Given the description of an element on the screen output the (x, y) to click on. 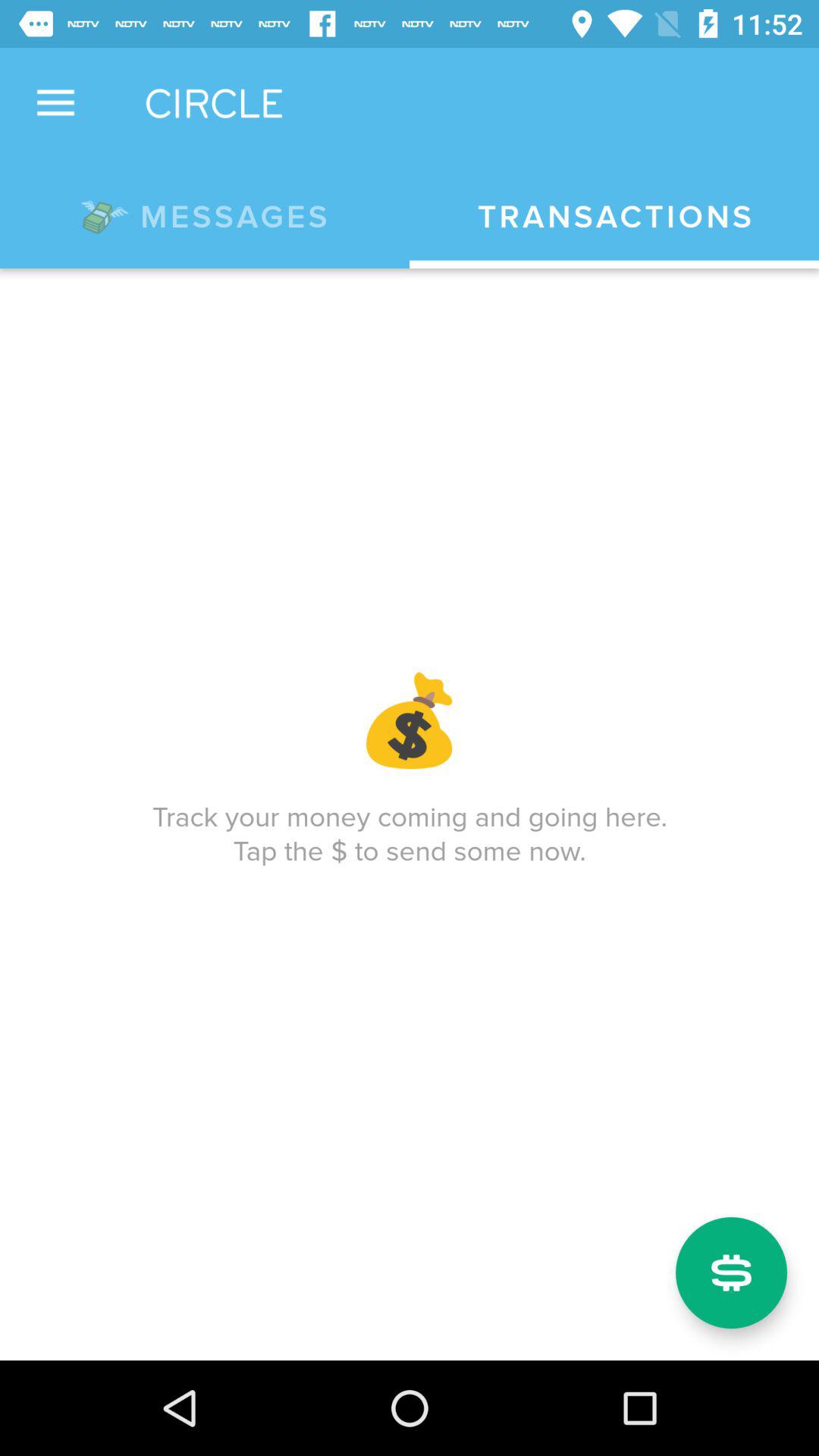
turn on the *messages (204, 213)
